Given the description of an element on the screen output the (x, y) to click on. 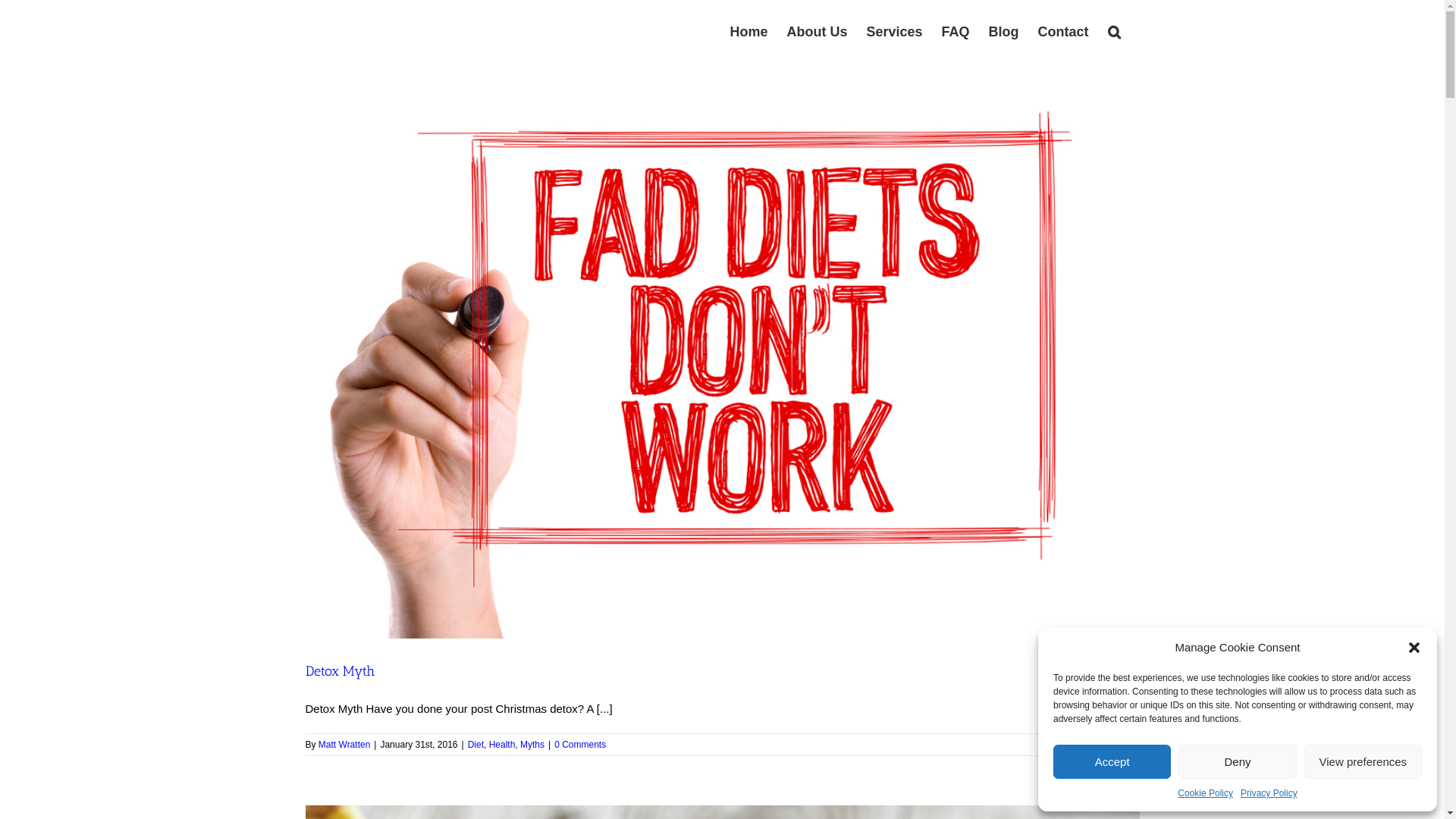
Detox Myth Element type: text (338, 670)
Health Element type: text (502, 744)
Accept Element type: text (1111, 761)
0 Comments Element type: text (579, 744)
Cookie Policy Element type: text (1205, 793)
Matt Wratten Element type: text (344, 744)
Diet Element type: text (475, 744)
Myths Element type: text (532, 744)
View preferences Element type: text (1362, 761)
Services Element type: text (894, 31)
Search Element type: hover (1113, 31)
Contact Element type: text (1062, 31)
Read More Element type: text (1116, 744)
FAQ Element type: text (955, 31)
Home Element type: text (748, 31)
Privacy Policy Element type: text (1268, 793)
Blog Element type: text (1003, 31)
About Us Element type: text (816, 31)
Deny Element type: text (1236, 761)
